Given the description of an element on the screen output the (x, y) to click on. 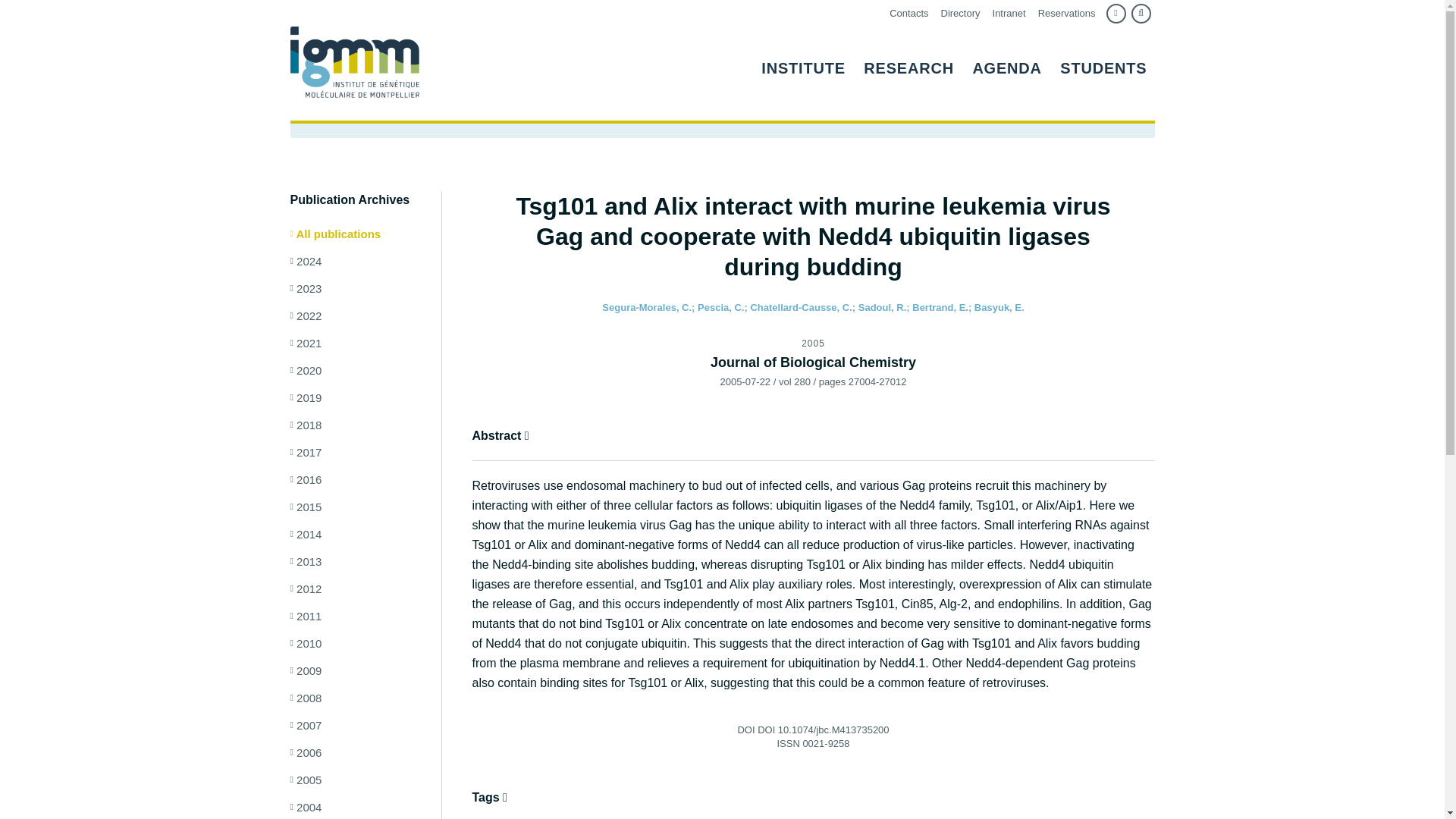
AGENDA (1005, 61)
Reservations (1066, 13)
RESEARCH (908, 61)
Webmail (1115, 13)
STUDENTS (1103, 61)
Directory (960, 13)
INSTITUTE (803, 61)
Contacts (908, 13)
Intranet (1008, 13)
Search (1141, 13)
